Given the description of an element on the screen output the (x, y) to click on. 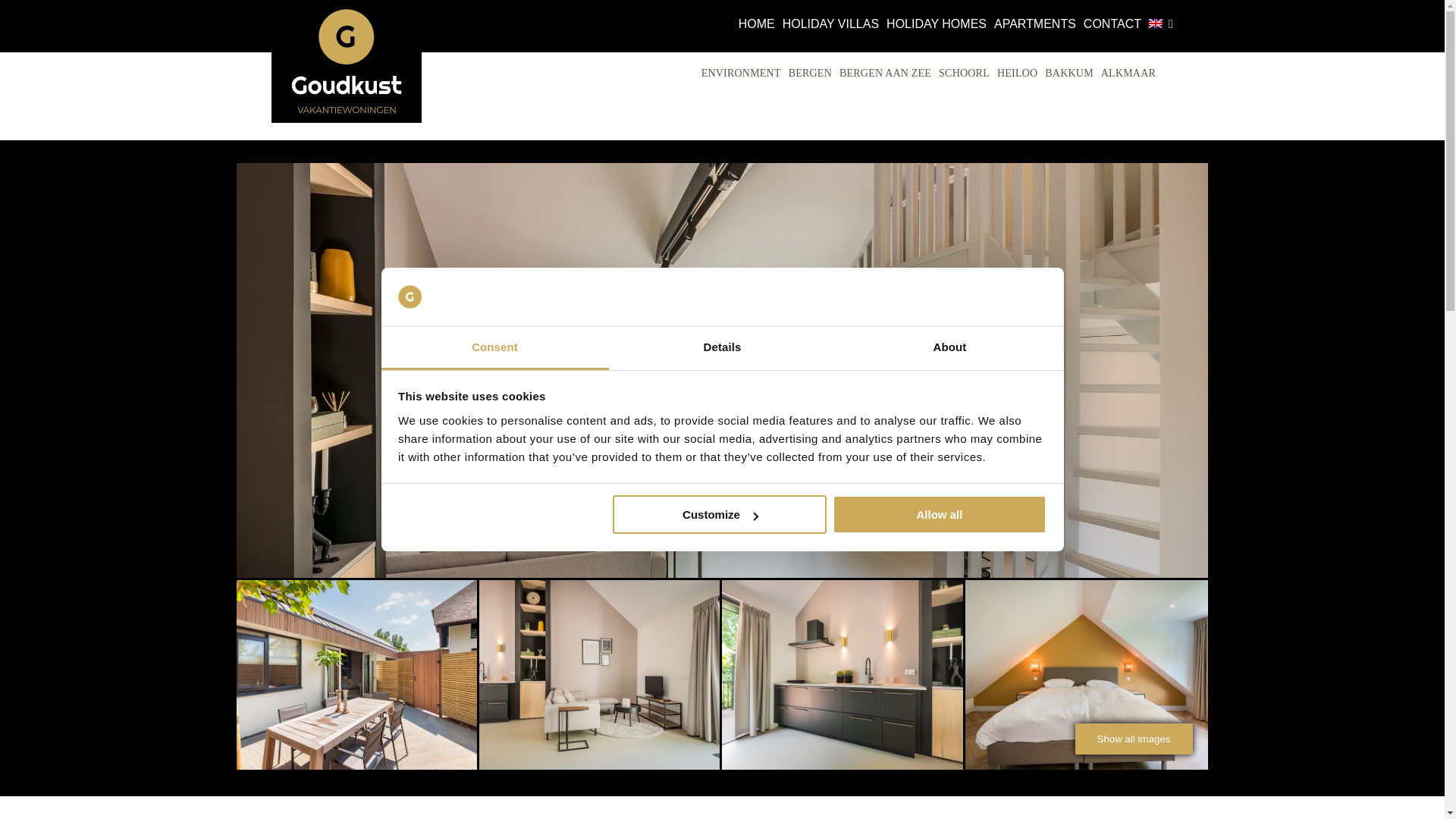
Allow all (939, 514)
About (948, 348)
Details (721, 348)
Customize (719, 514)
Consent (494, 348)
contact (1112, 24)
